Given the description of an element on the screen output the (x, y) to click on. 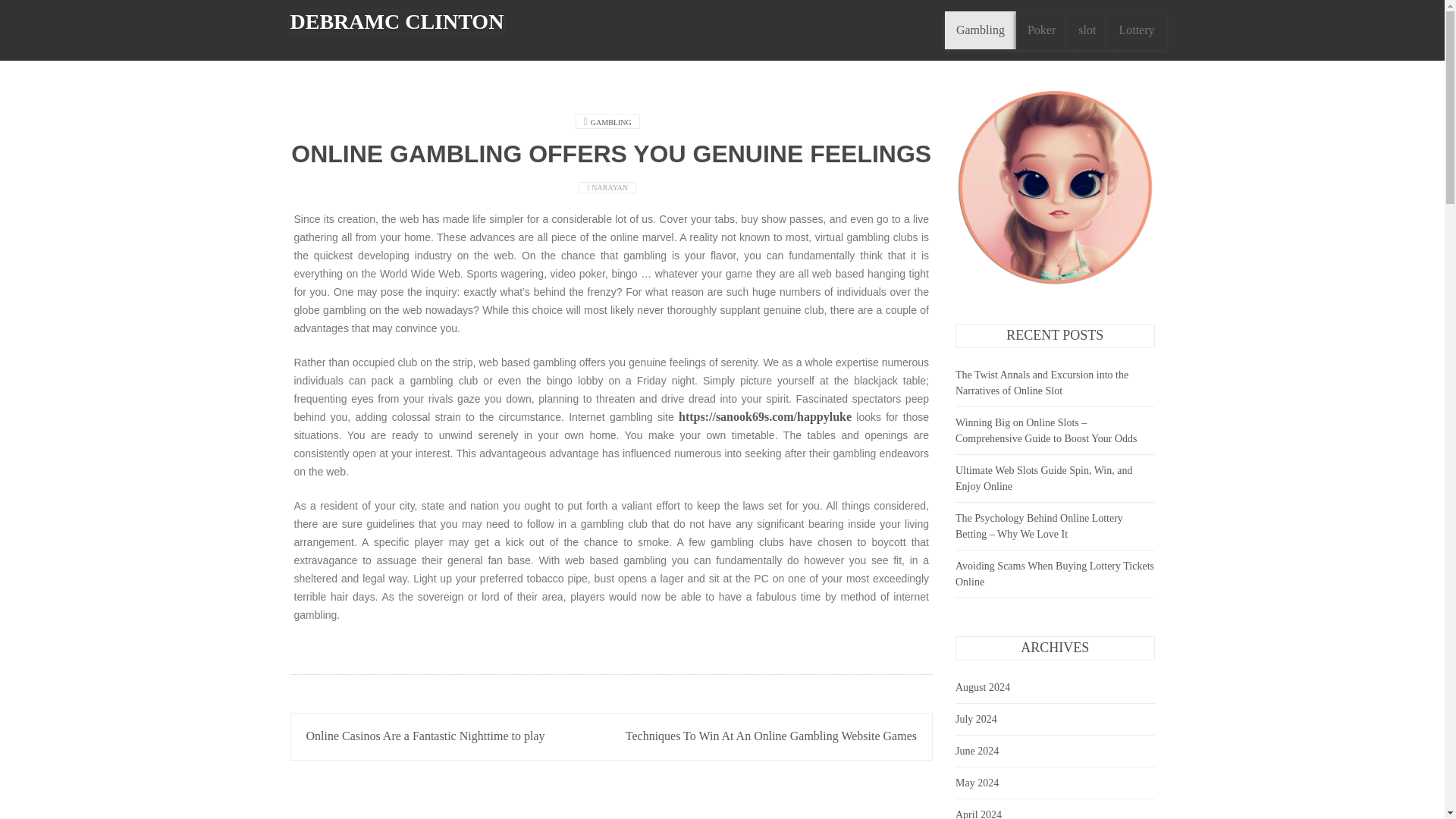
June 2024 (976, 750)
Techniques To Win At An Online Gambling Website Games (771, 735)
slot (1086, 30)
May 2024 (976, 782)
DEBRAMC CLINTON (396, 21)
Poker (1041, 30)
NARAYAN (610, 187)
DEBRAMC CLINTON (396, 21)
Lottery (1136, 30)
Ultimate Web Slots Guide Spin, Win, and Enjoy Online (1043, 478)
